Given the description of an element on the screen output the (x, y) to click on. 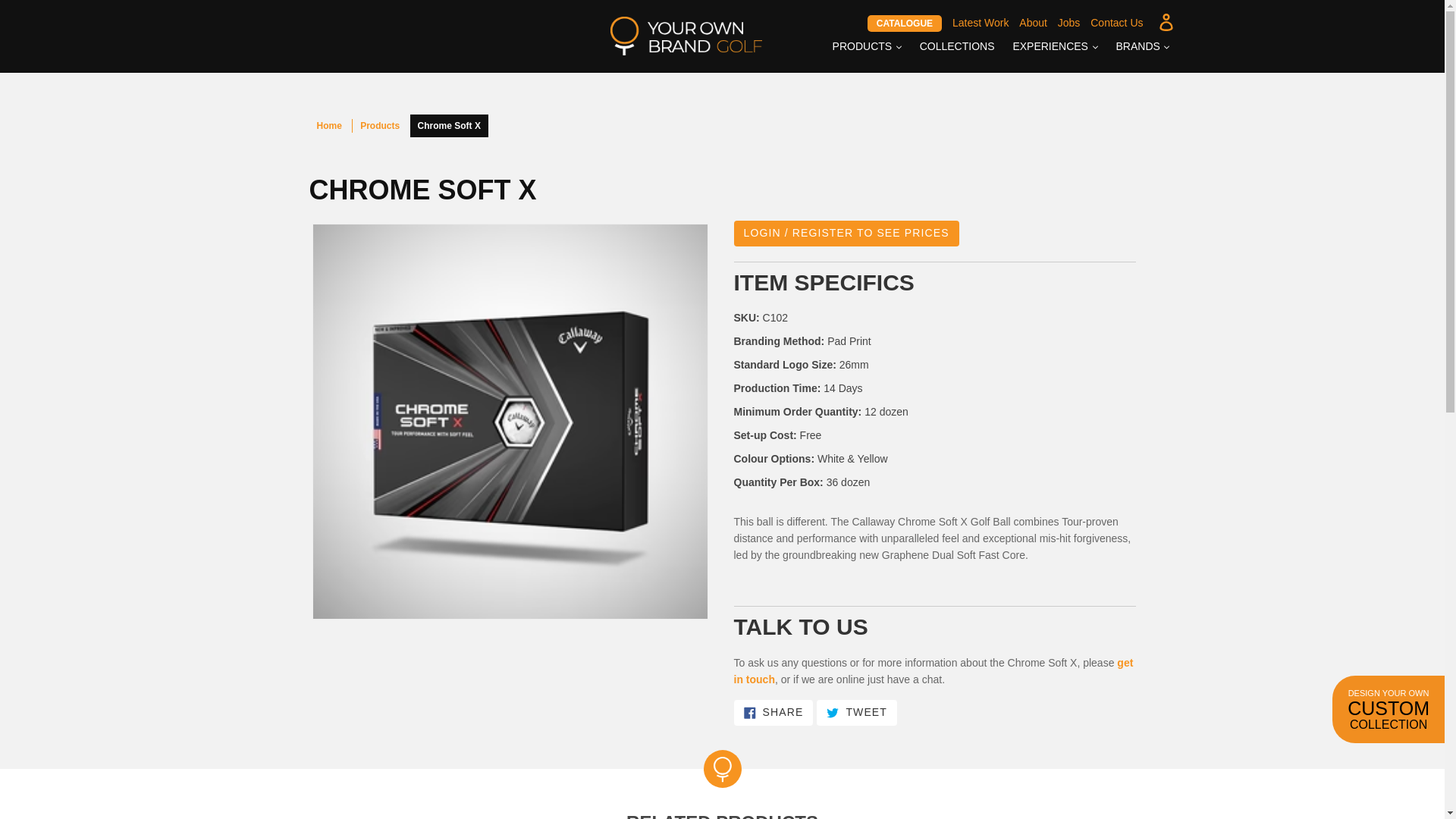
COLLECTIONS (957, 47)
Contact Us (1116, 22)
CATALOGUE (904, 23)
Jobs (1069, 22)
Your Own Brand Golf (328, 125)
Products (379, 125)
Latest Work (980, 22)
Log in (1167, 21)
About (1032, 22)
